Given the description of an element on the screen output the (x, y) to click on. 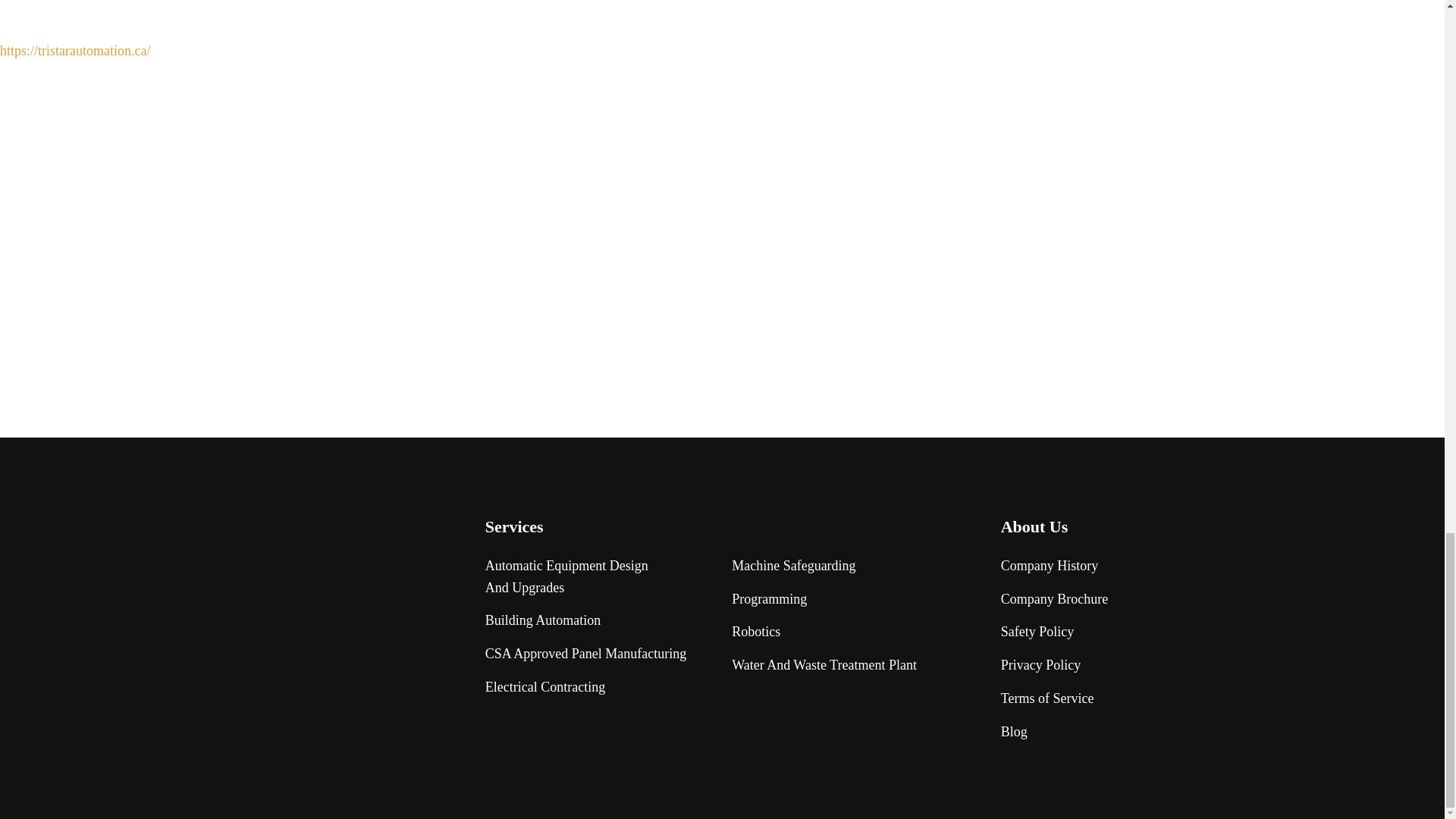
Privacy Policy (1041, 665)
Programming (769, 599)
Robotics (756, 631)
Safety Policy (1037, 631)
Machine Safeguarding (794, 566)
CSA Approved Panel Manufacturing (584, 653)
Terms of Service (1047, 698)
Electrical Contracting (544, 687)
Water And Waste Treatment Plant (824, 665)
Company History (1050, 566)
Company Brochure (1054, 599)
Blog (1014, 731)
Building Automation (567, 576)
